Given the description of an element on the screen output the (x, y) to click on. 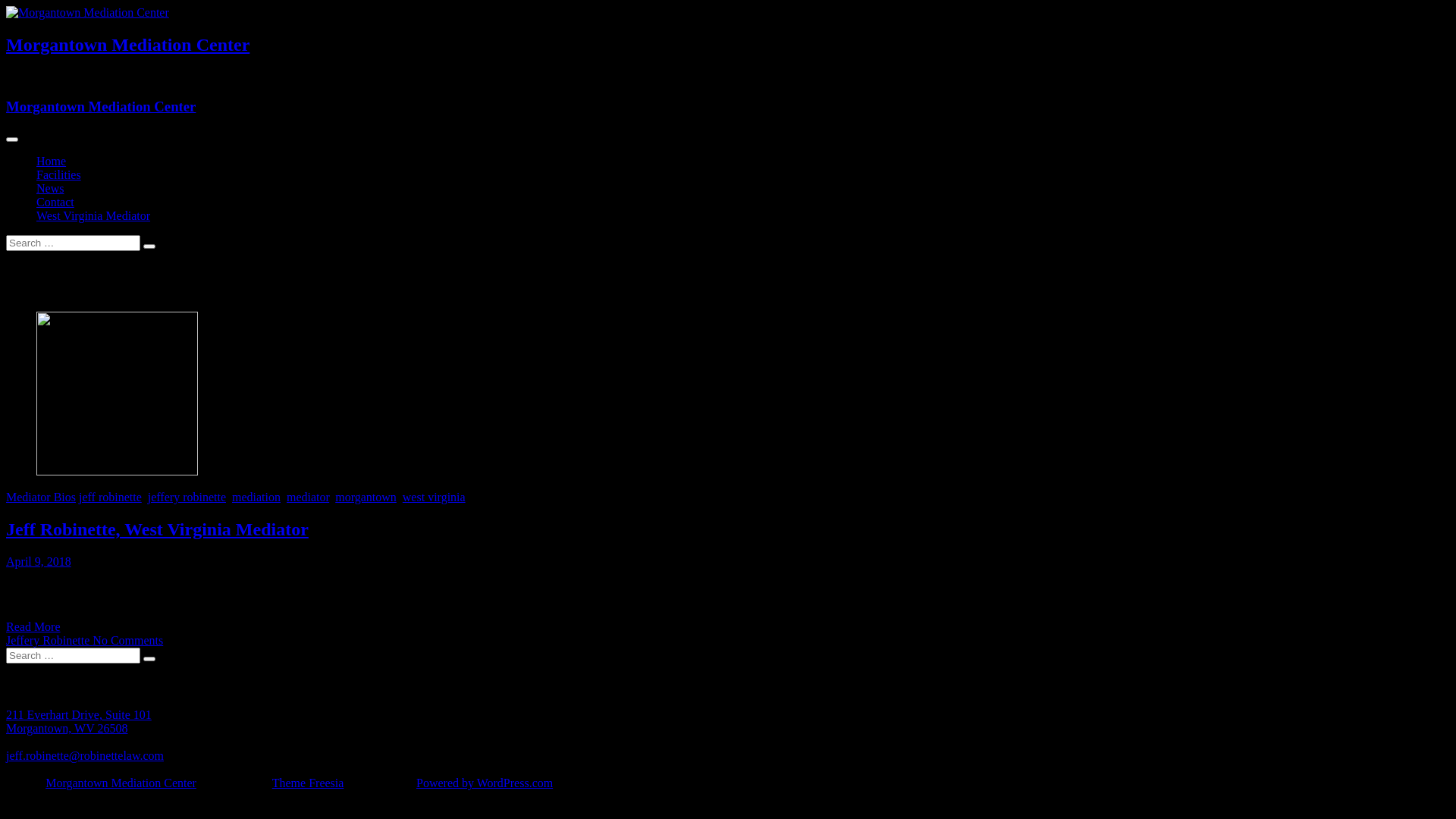
Mediator Bios Element type: text (40, 496)
Home Element type: text (50, 160)
Powered by WordPress.com Element type: text (484, 782)
Jeffery Robinette Element type: text (49, 639)
West Virginia Mediator Element type: text (93, 215)
April 9, 2018 Element type: text (38, 561)
Morgantown Mediation Center Element type: text (127, 44)
Contact Element type: text (55, 201)
mediation Element type: text (256, 496)
mediator Element type: text (307, 496)
Theme Freesia Element type: text (308, 782)
No Comments Element type: text (127, 639)
morgantown Element type: text (365, 496)
jeffery robinette Element type: text (186, 496)
Morgantown Mediation Center Element type: text (100, 106)
211 Everhart Drive, Suite 101
Morgantown, WV 26508 Element type: text (78, 721)
Read More Element type: text (33, 626)
jeff robinette Element type: text (109, 496)
News Element type: text (49, 188)
Jeff Robinette, West Virginia Mediator Element type: text (157, 529)
west virginia Element type: text (433, 496)
Morgantown Mediation Center Element type: text (120, 782)
Jeff Robinette, West Virginia Mediator Element type: hover (116, 470)
jeff.robinette@robinettelaw.com Element type: text (84, 755)
Facilities Element type: text (58, 174)
